Given the description of an element on the screen output the (x, y) to click on. 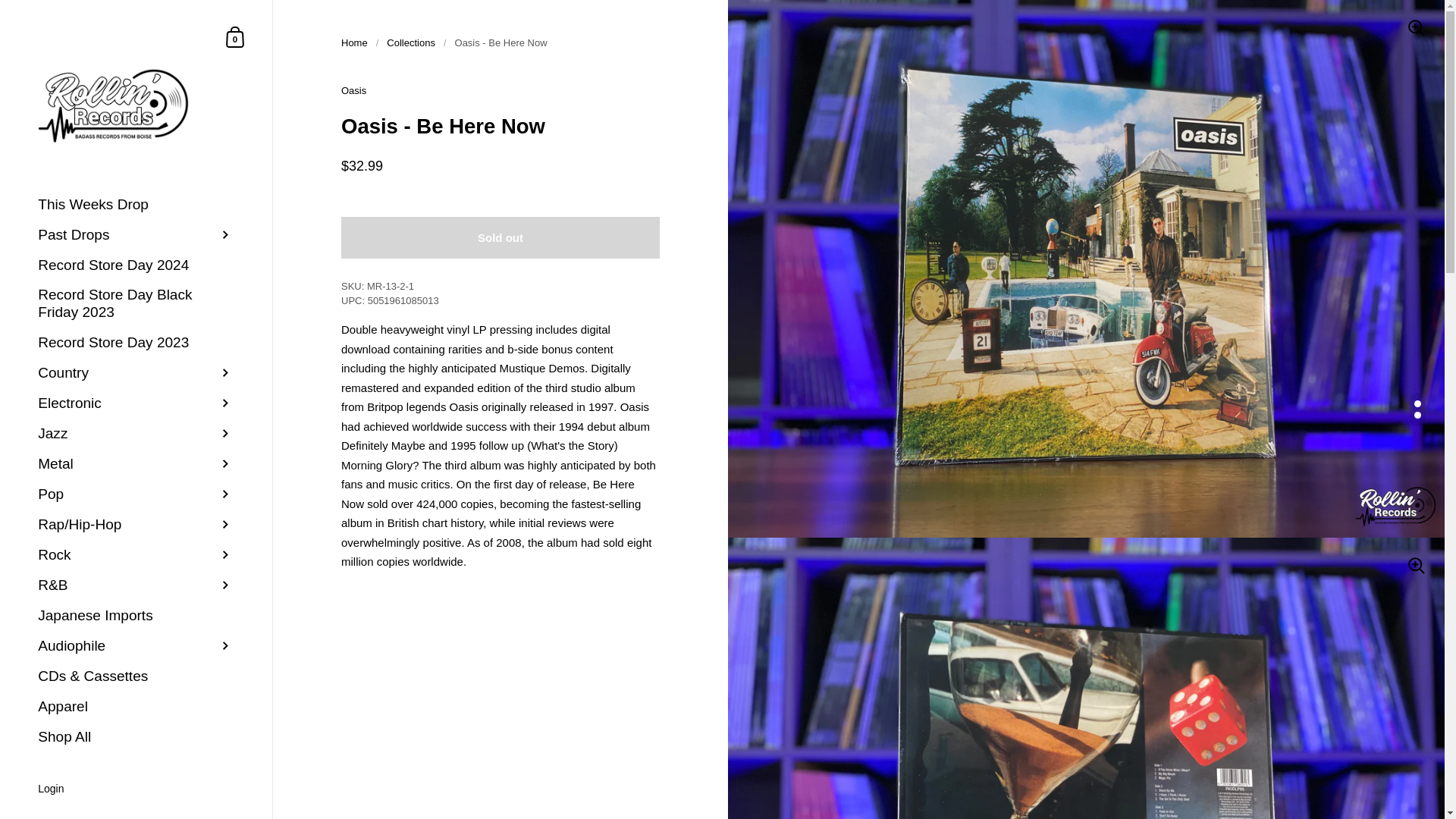
Past Drops (235, 35)
Shopping Cart (136, 235)
This Weeks Drop (235, 35)
Skip to content (136, 204)
